Given the description of an element on the screen output the (x, y) to click on. 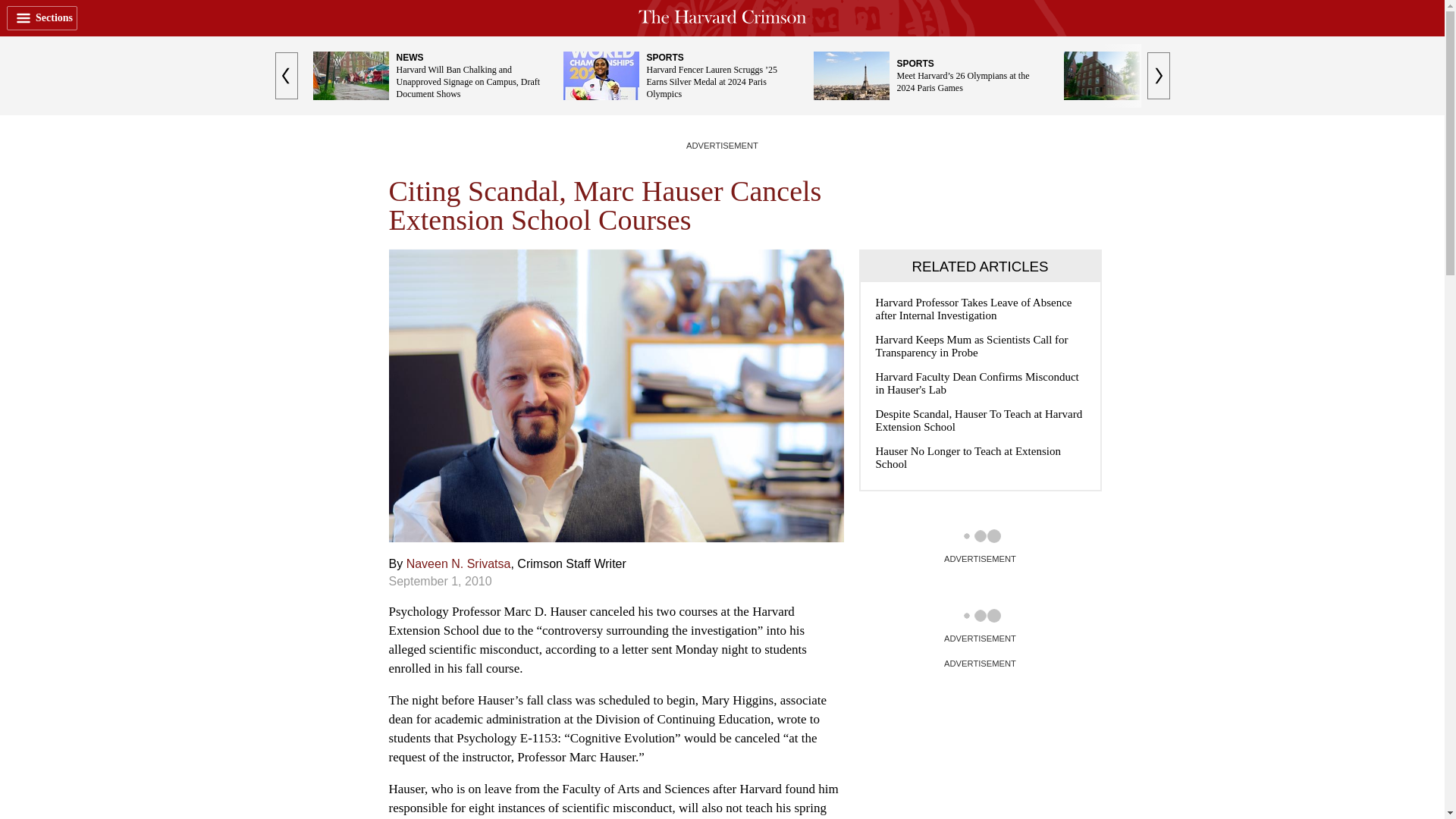
Updated September 01, 2010 at 8:01 am (440, 581)
Despite Scandal, Hauser To Teach at Harvard Extension School (979, 420)
Harvard Faculty Dean Confirms Misconduct in Hauser's Lab (979, 383)
Naveen N. Srivatsa (458, 563)
Hauser No Longer to Teach at Extension School (979, 457)
